Given the description of an element on the screen output the (x, y) to click on. 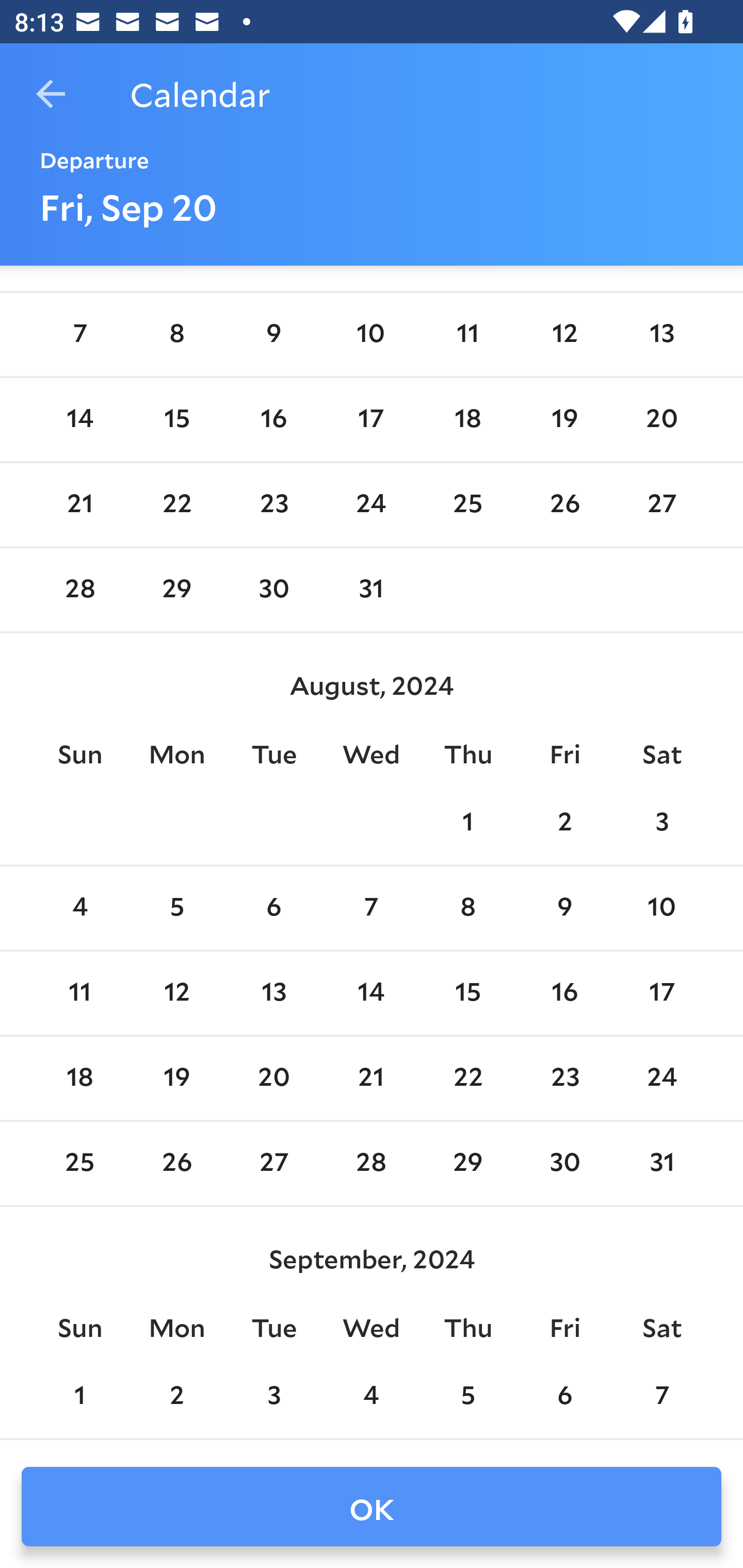
Navigate up (50, 93)
7 (79, 334)
8 (177, 334)
9 (273, 334)
10 (371, 334)
11 (467, 334)
12 (565, 334)
13 (661, 334)
14 (79, 420)
15 (177, 420)
16 (273, 420)
17 (371, 420)
18 (467, 420)
19 (565, 420)
20 (661, 420)
21 (79, 504)
22 (177, 504)
23 (273, 504)
24 (371, 504)
25 (467, 504)
26 (565, 504)
27 (661, 504)
28 (79, 589)
29 (177, 589)
30 (273, 589)
31 (371, 589)
1 (467, 823)
2 (565, 823)
3 (661, 823)
4 (79, 907)
5 (177, 907)
6 (273, 907)
7 (371, 907)
8 (467, 907)
9 (565, 907)
10 (661, 907)
11 (79, 994)
12 (177, 994)
13 (273, 994)
14 (371, 994)
15 (467, 994)
16 (565, 994)
17 (661, 994)
18 (79, 1078)
19 (177, 1078)
20 (273, 1078)
21 (371, 1078)
22 (467, 1078)
23 (565, 1078)
24 (661, 1078)
